Given the description of an element on the screen output the (x, y) to click on. 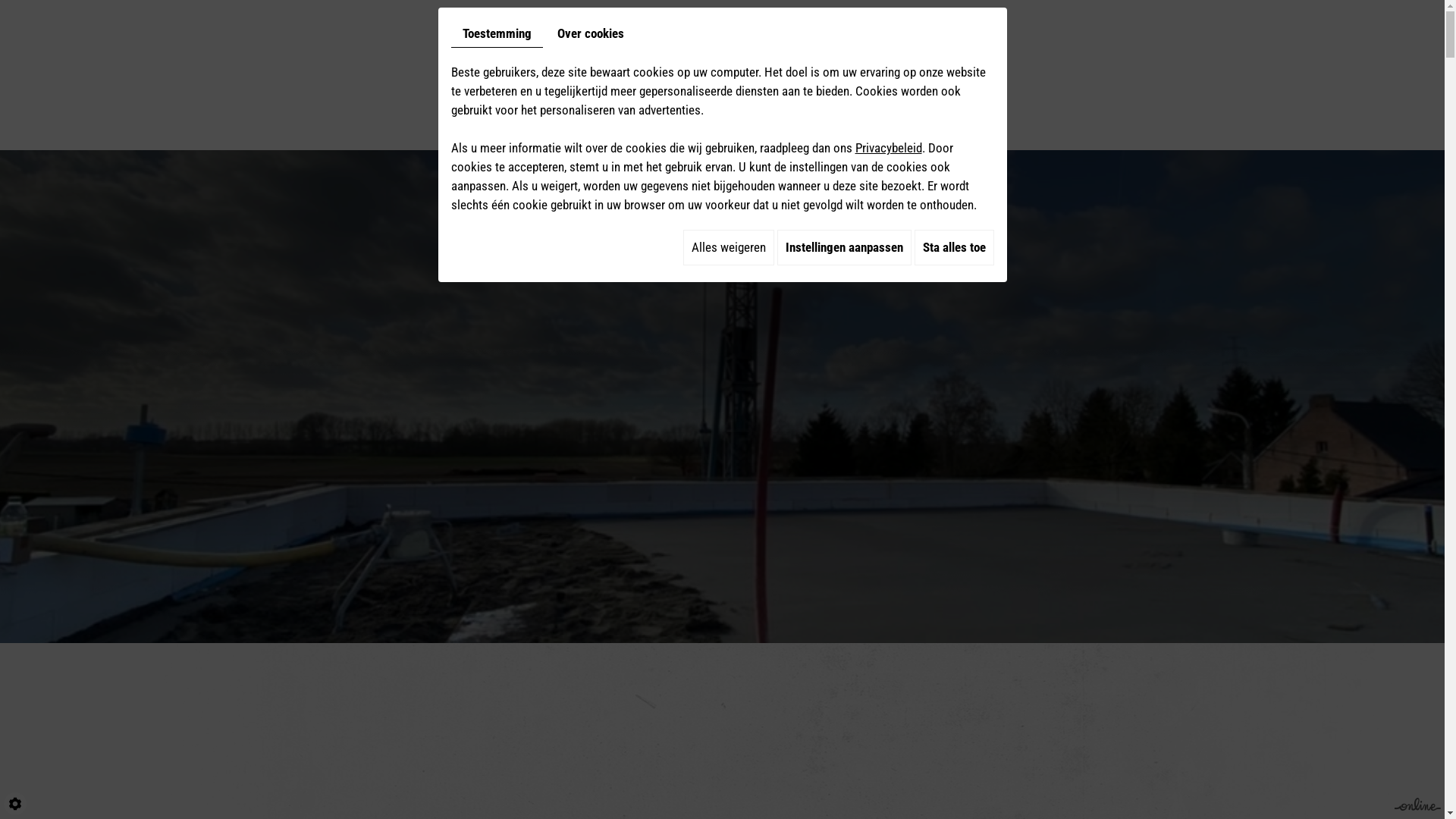
AKOESTISCHE ISOLATIE Element type: text (348, 82)
THERMISCHE ISOLATIE Element type: text (519, 82)
CONTACT & OFFERTE Element type: text (1307, 82)
Auro Tech Element type: hover (792, 81)
HOME Element type: text (96, 82)
Cookie-instelling bewerken Element type: text (14, 803)
Over cookies Element type: text (590, 33)
Alles weigeren Element type: text (727, 247)
GALERIJ Element type: text (1182, 82)
Privacybeleid Element type: text (888, 147)
CHAPEWERKEN Element type: text (197, 82)
Instellingen aanpassen Element type: text (843, 247)
OPRITTEN & TERRAS Element type: text (1058, 82)
Sta alles toe Element type: text (954, 247)
Toestemming Element type: text (496, 33)
